Given the description of an element on the screen output the (x, y) to click on. 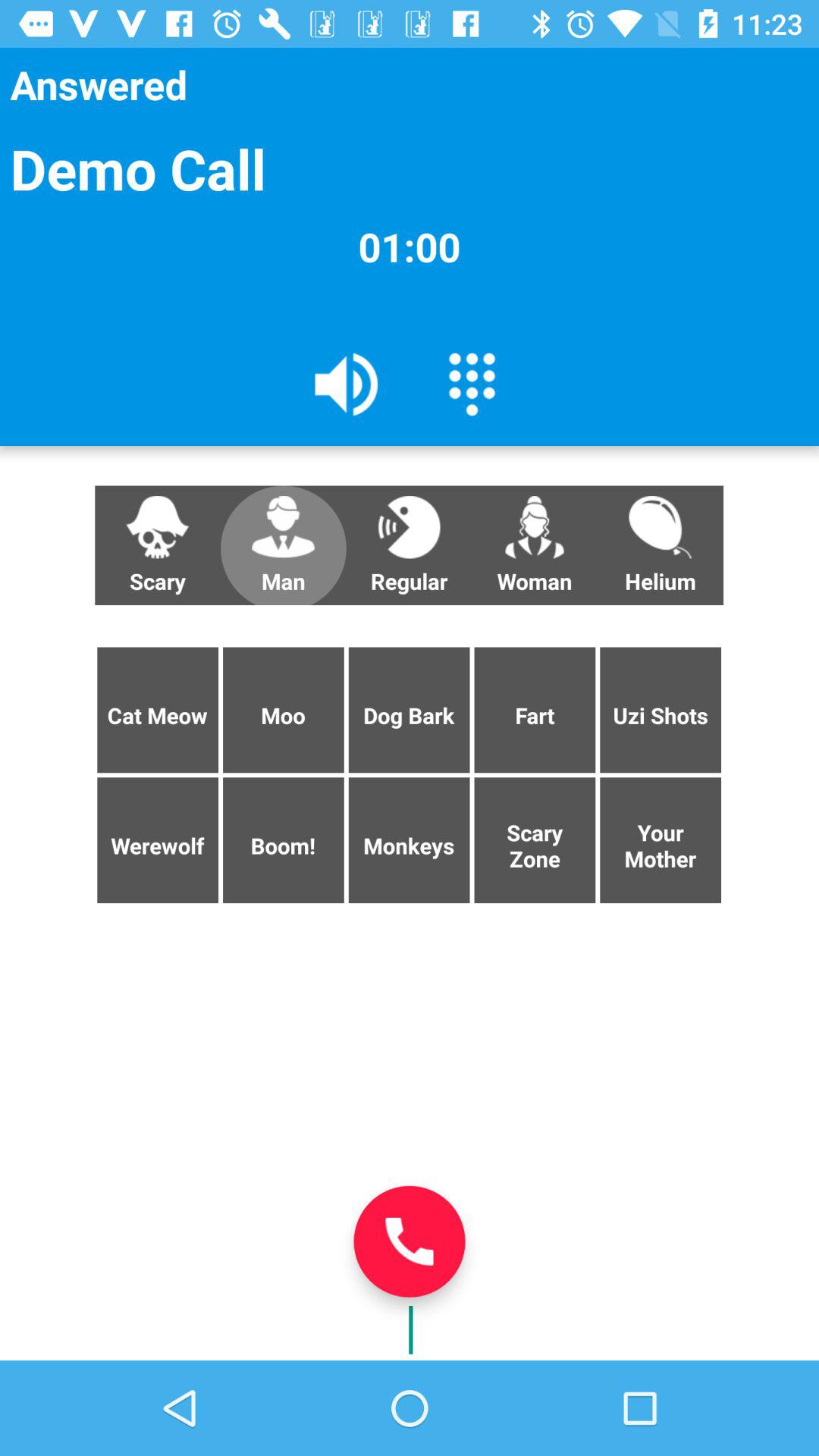
tap button next to the man item (409, 545)
